Given the description of an element on the screen output the (x, y) to click on. 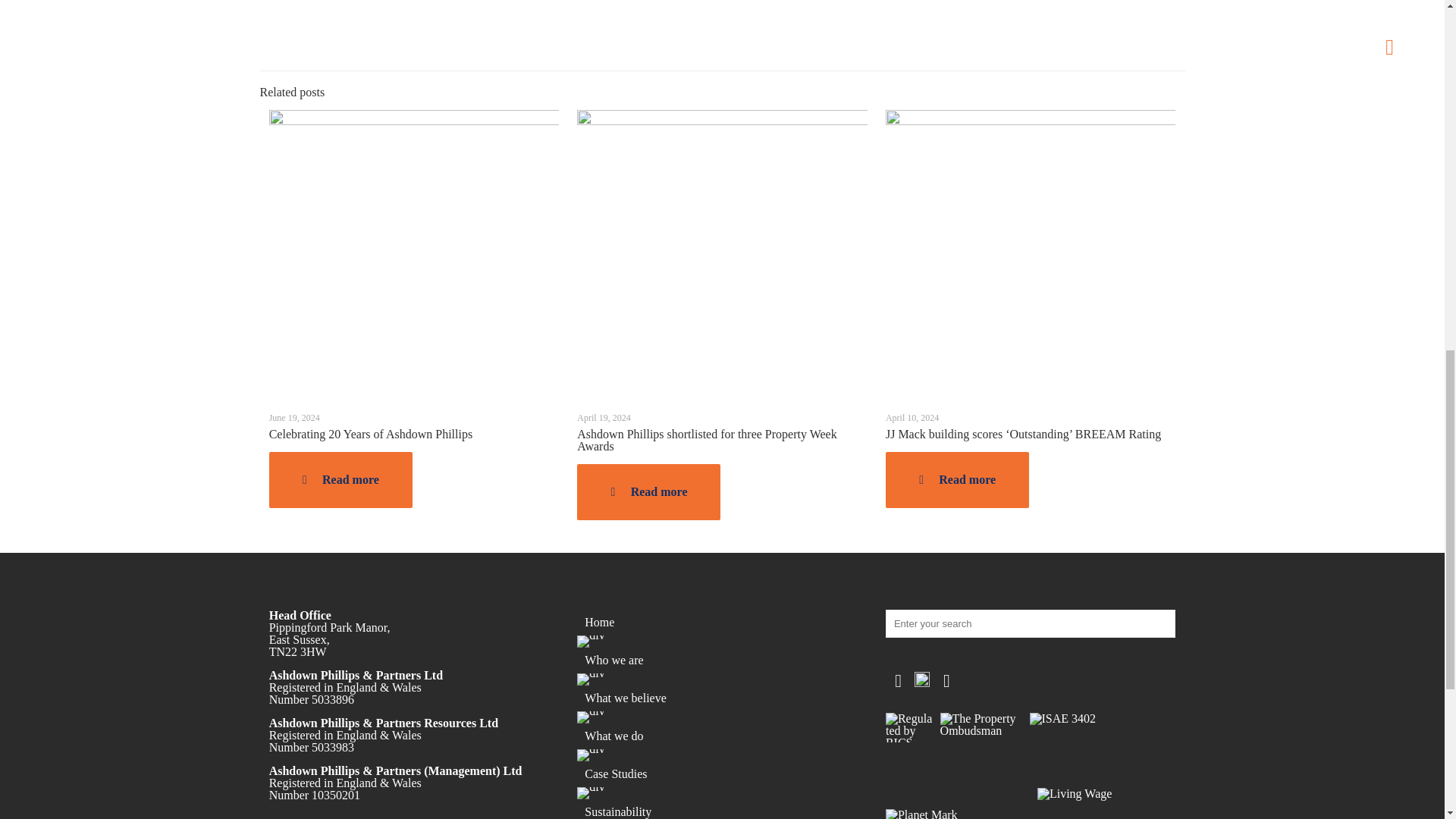
Read more (648, 492)
Ashdown Phillips shortlisted for three Property Week Awards (705, 439)
Celebrating 20 Years of Ashdown Phillips (370, 433)
Read more (340, 479)
